Given the description of an element on the screen output the (x, y) to click on. 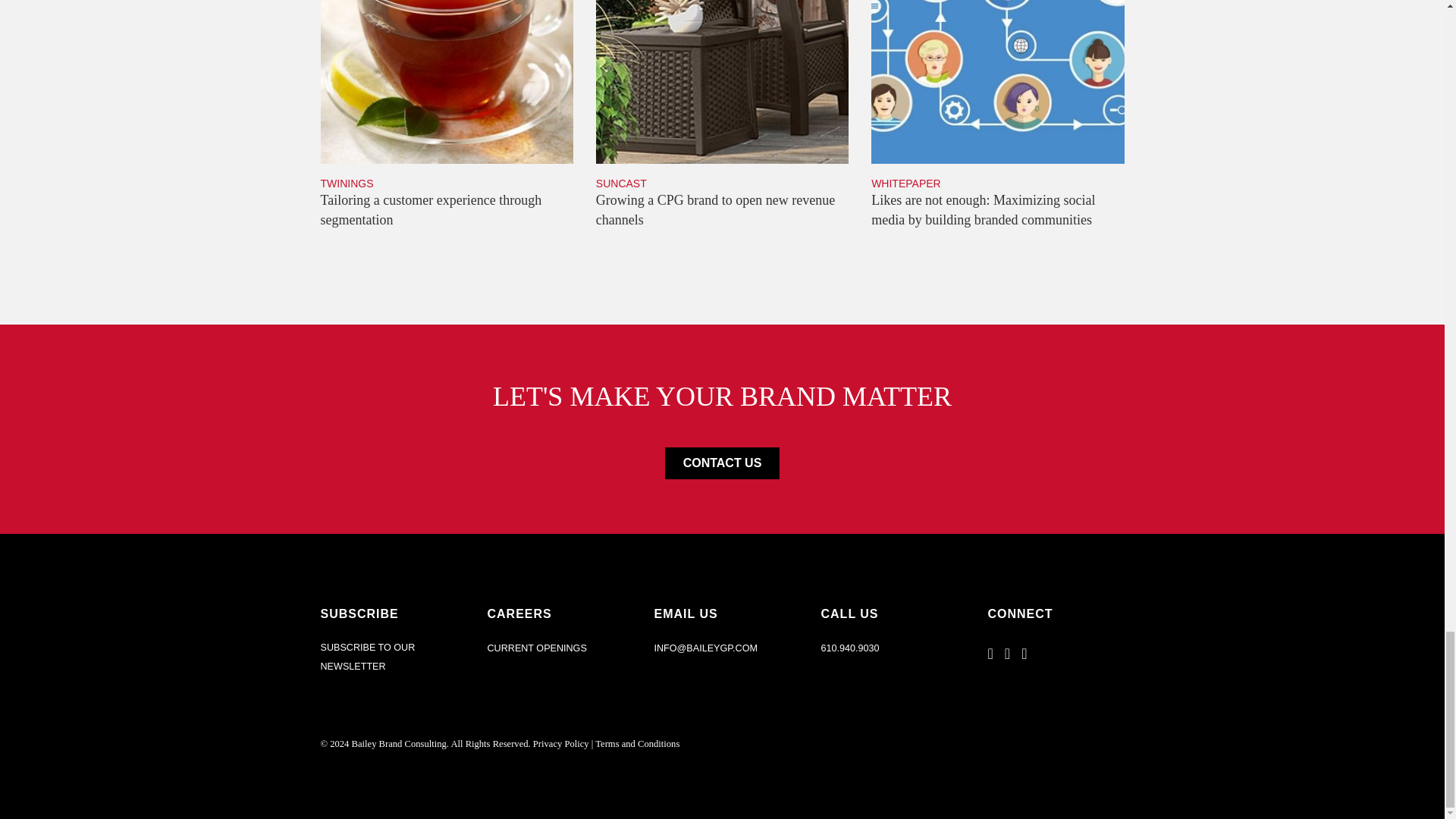
SUBSCRIBE TO OUR NEWSLETTER (388, 657)
CURRENT OPENINGS (536, 647)
CONTACT US (721, 124)
Privacy Policy (722, 462)
Terms and Conditions (560, 743)
610.940.9030 (637, 743)
